Given the description of an element on the screen output the (x, y) to click on. 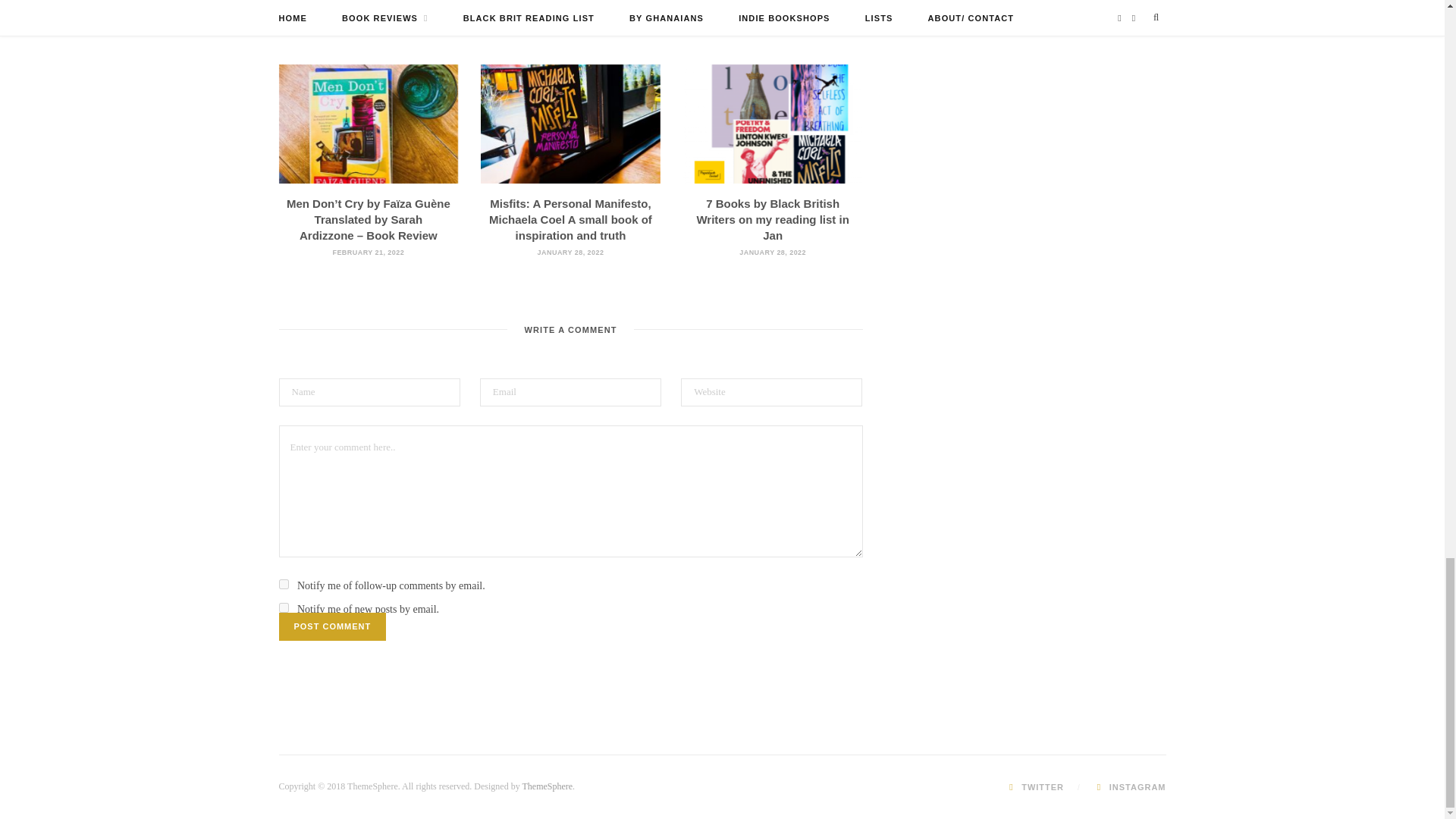
subscribe (283, 583)
Post Comment (333, 626)
subscribe (283, 607)
